Given the description of an element on the screen output the (x, y) to click on. 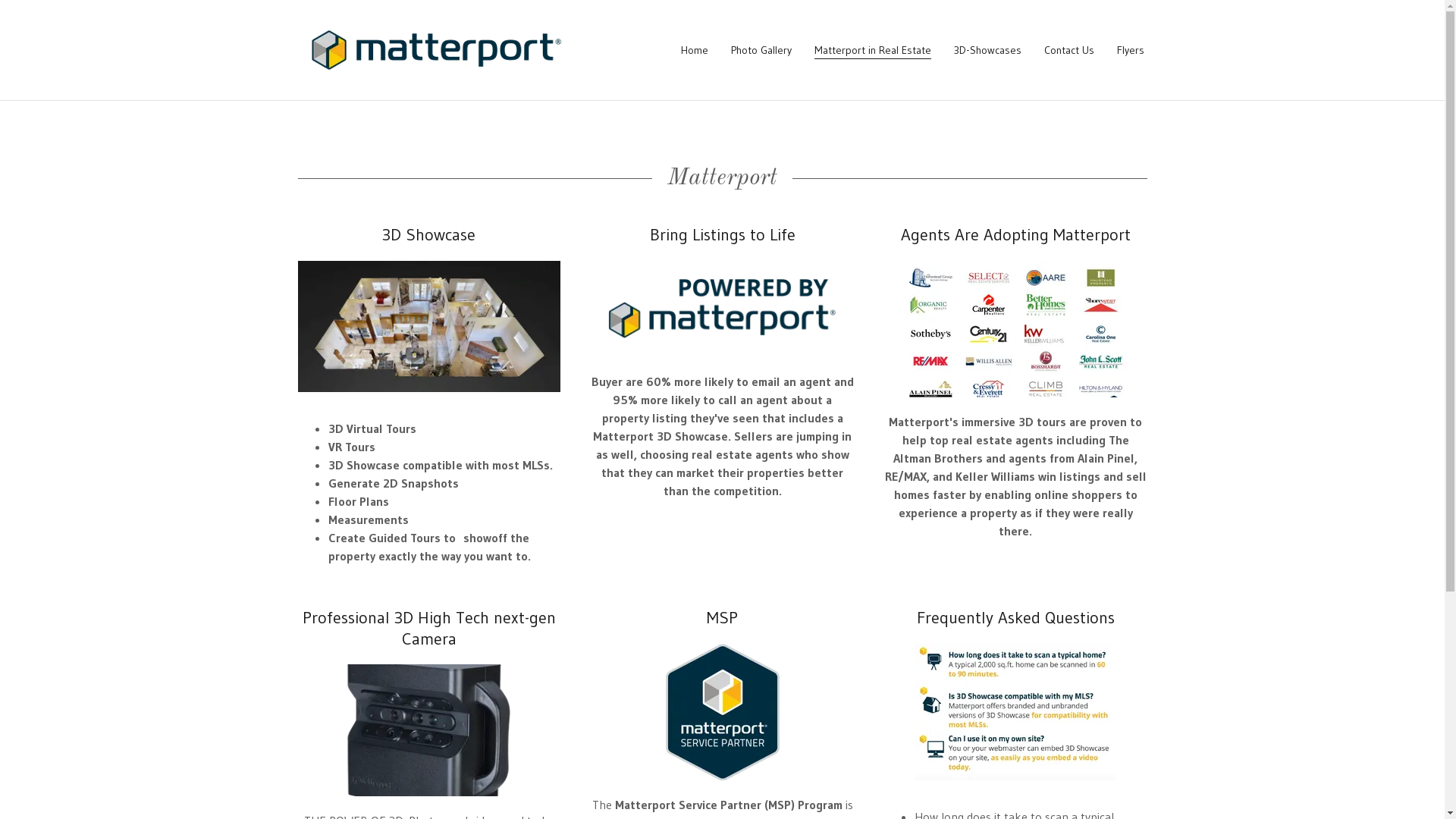
Home Element type: text (694, 49)
Flyers Element type: text (1129, 49)
Contact Us Element type: text (1068, 49)
Photo Gallery Element type: text (761, 49)
Matterport in Real Estate Element type: text (872, 49)
3D-Showcases Element type: text (987, 49)
360 Digital Imaging Element type: hover (436, 48)
